Given the description of an element on the screen output the (x, y) to click on. 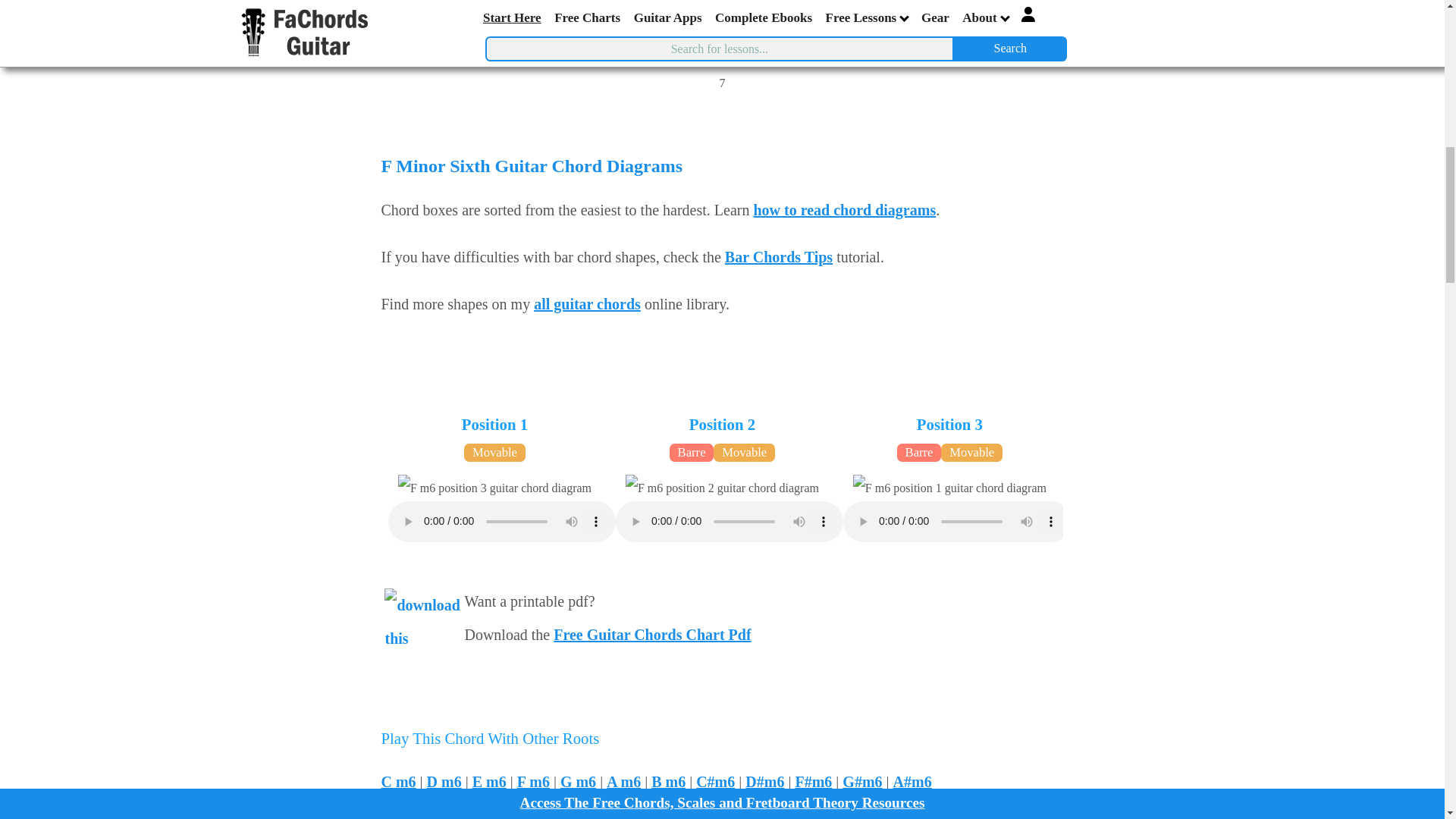
E m6 (488, 781)
C m6 (397, 781)
all guitar chords (587, 303)
F m6 (533, 781)
how to read chord diagrams (844, 209)
Bar Chords Tips (778, 256)
B m6 (667, 781)
A m6 (623, 781)
G m6 (577, 781)
Free Guitar Chords Chart Pdf (652, 634)
D m6 (443, 781)
